Given the description of an element on the screen output the (x, y) to click on. 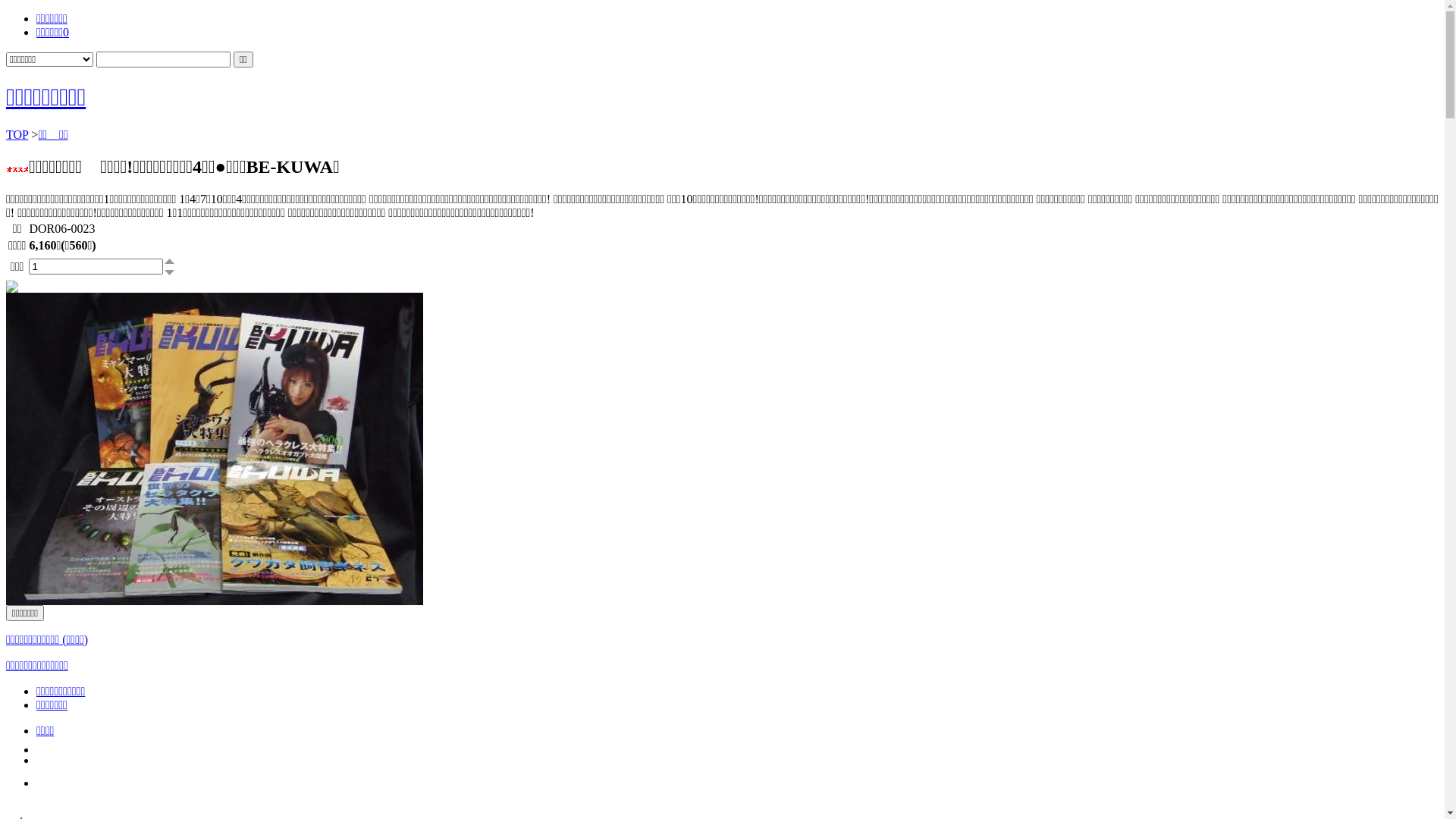
TOP Element type: text (17, 134)
